Given the description of an element on the screen output the (x, y) to click on. 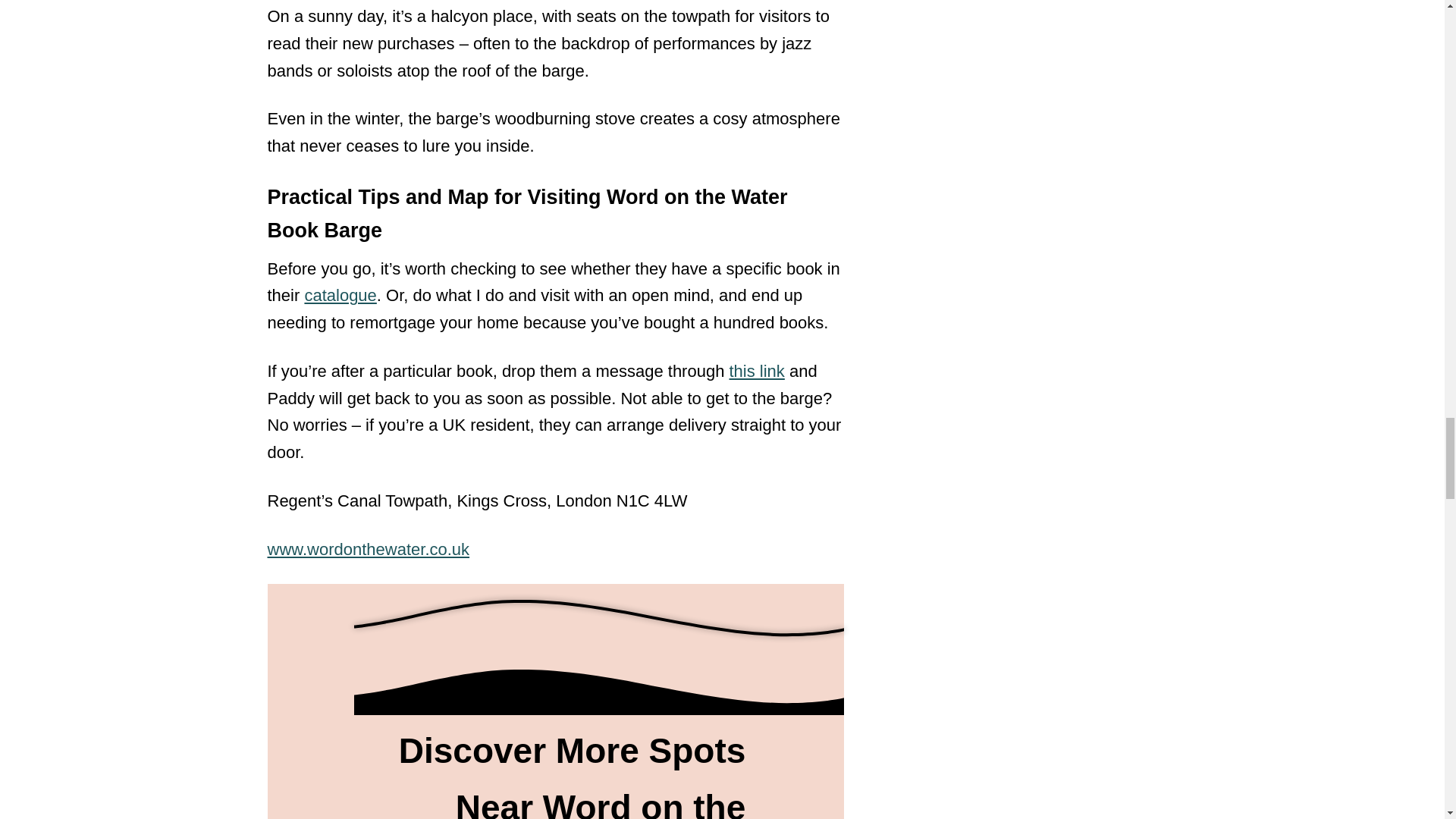
www.wordonthewater.co.uk (367, 548)
this link (756, 370)
catalogue (339, 294)
